Given the description of an element on the screen output the (x, y) to click on. 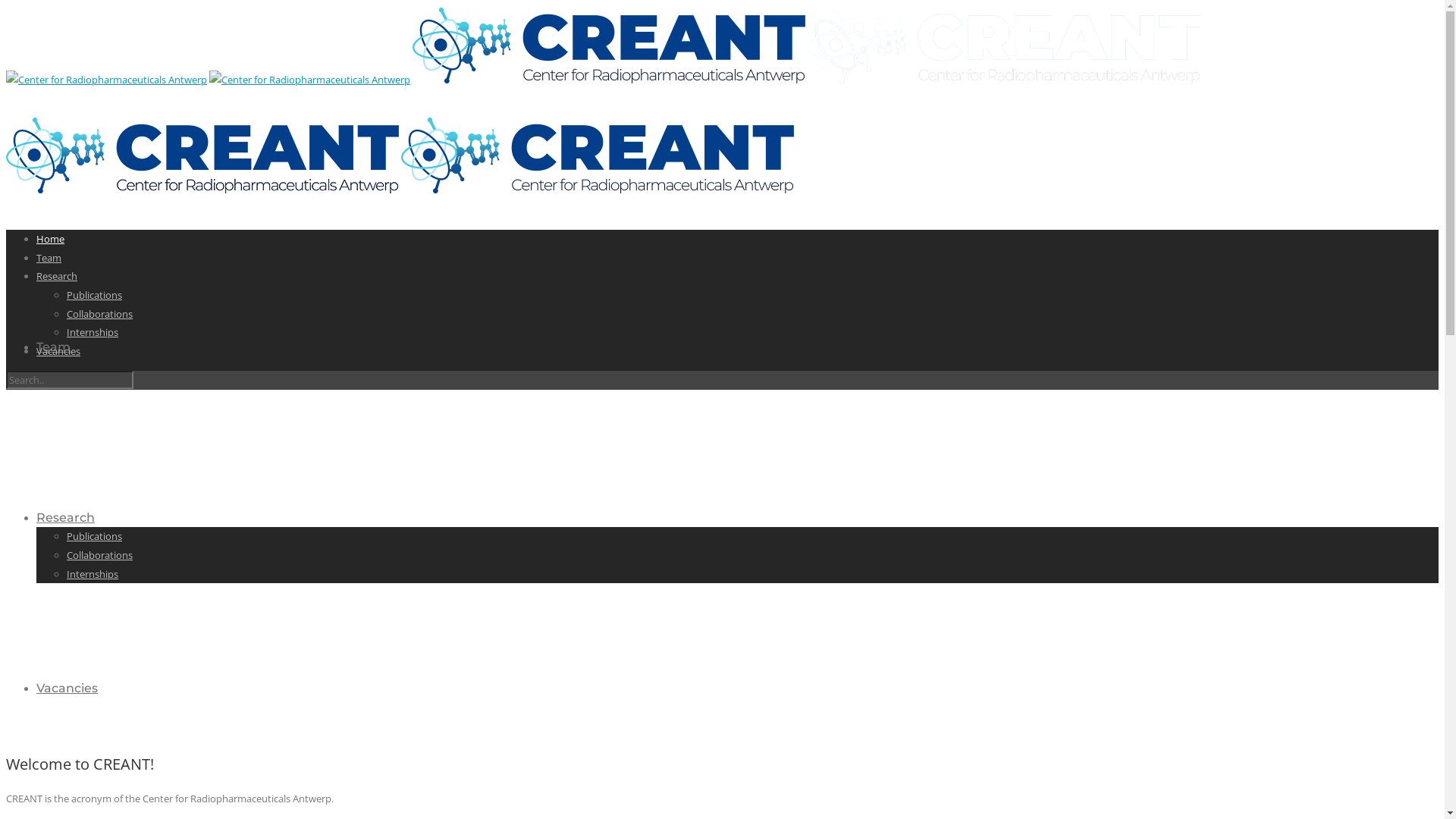
Team Element type: text (48, 257)
Publications Element type: text (94, 294)
Vacancies Element type: text (58, 350)
Home Element type: text (55, 176)
Collaborations Element type: text (99, 313)
Collaborations Element type: text (99, 554)
Publications Element type: text (94, 535)
Home Element type: text (50, 238)
Team Element type: text (53, 346)
Vacancies Element type: text (66, 687)
Internships Element type: text (92, 573)
Internships Element type: text (92, 331)
Research Element type: text (56, 275)
Research Element type: text (65, 517)
